Given the description of an element on the screen output the (x, y) to click on. 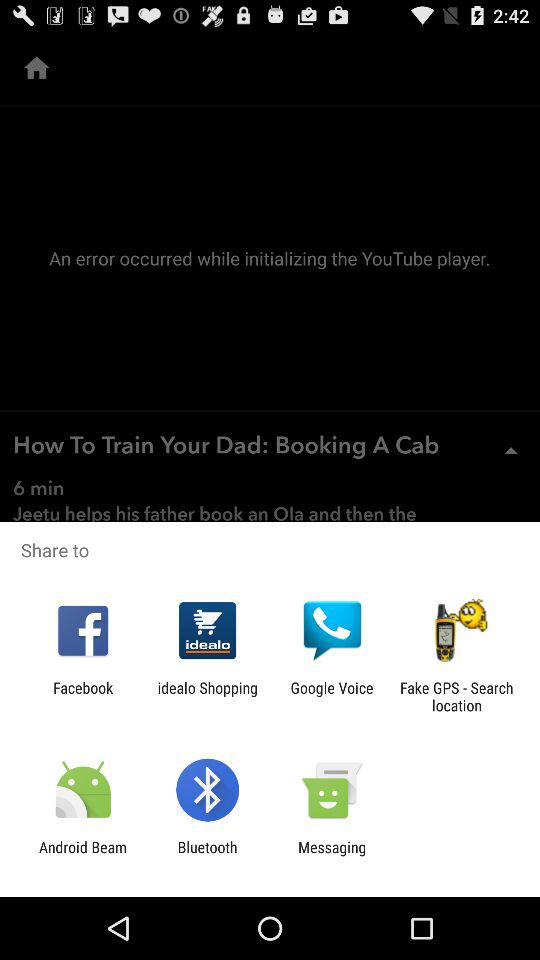
open the fake gps search (456, 696)
